Given the description of an element on the screen output the (x, y) to click on. 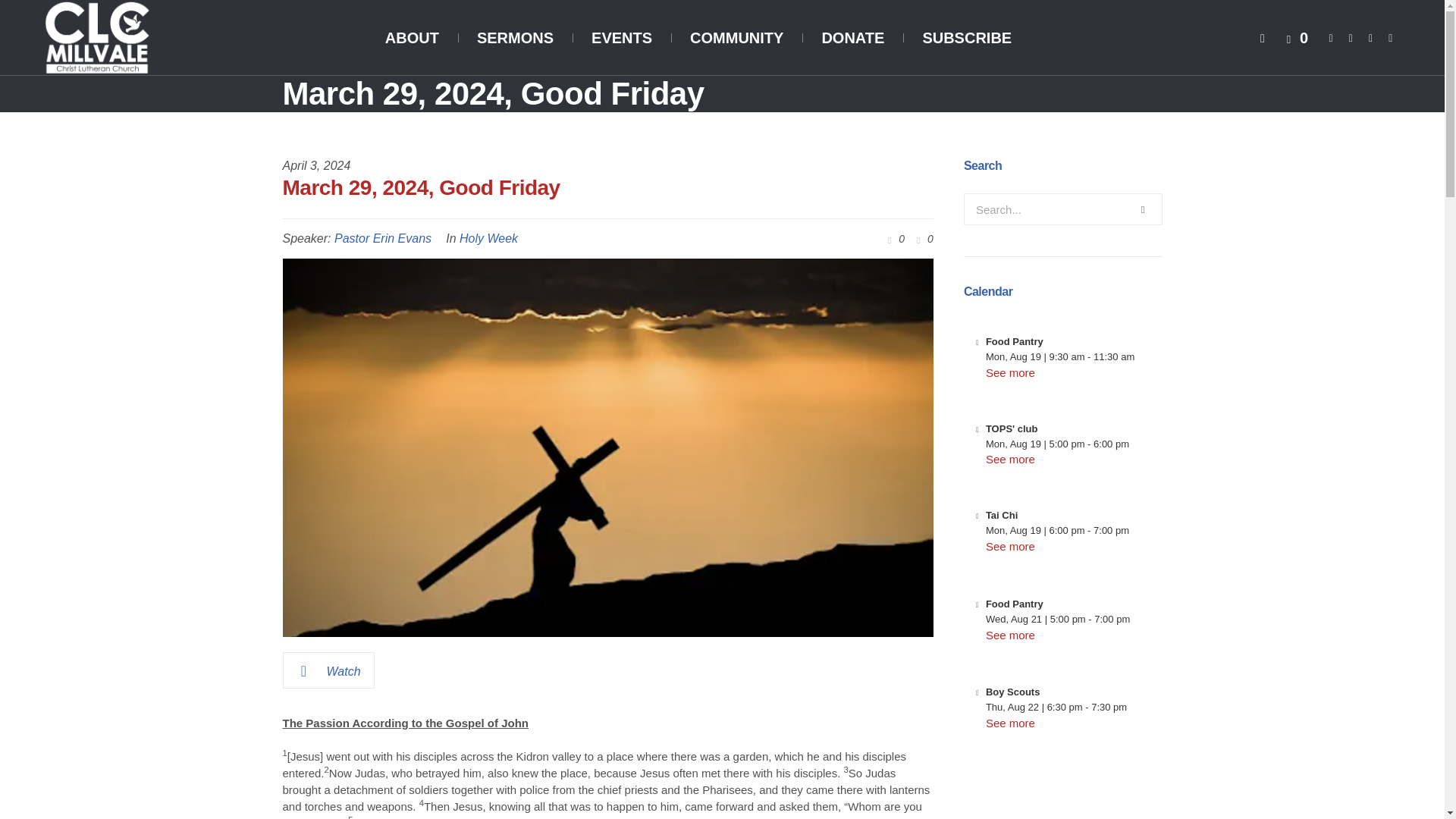
Instagram (1370, 38)
Holy Week (489, 237)
SUBSCRIBE (966, 37)
E-Mail (1390, 38)
COMMUNITY (736, 37)
Watch (328, 669)
EVENTS (621, 37)
Pastor Erin Evans (382, 237)
April 3, 2024 (316, 166)
